Given the description of an element on the screen output the (x, y) to click on. 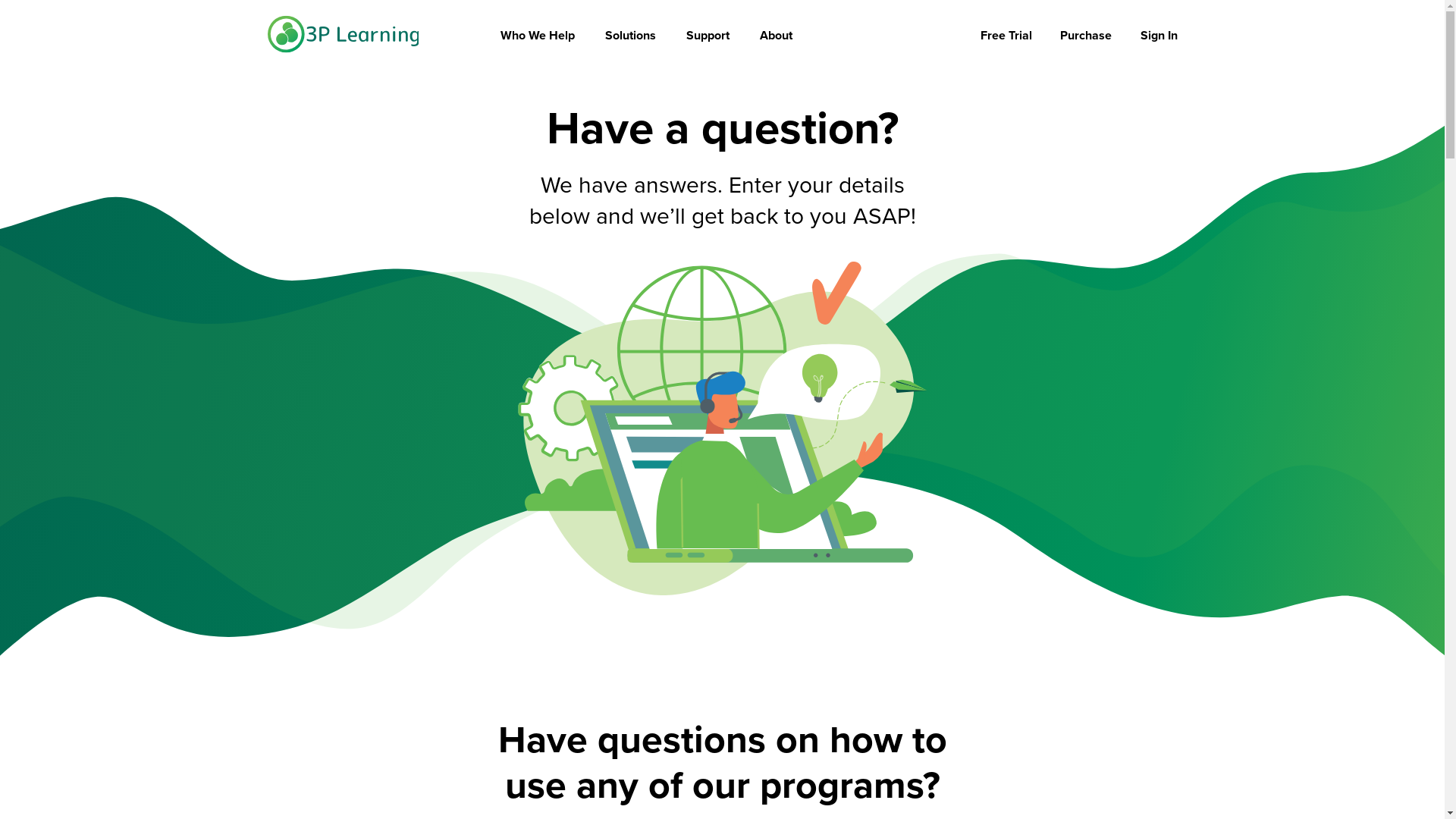
Solutions Element type: text (630, 35)
Support Element type: text (707, 35)
Sign In Element type: text (1158, 35)
About Element type: text (775, 35)
Free Trial Element type: text (1005, 35)
Purchase Element type: text (1085, 35)
Who We Help Element type: text (537, 35)
